Given the description of an element on the screen output the (x, y) to click on. 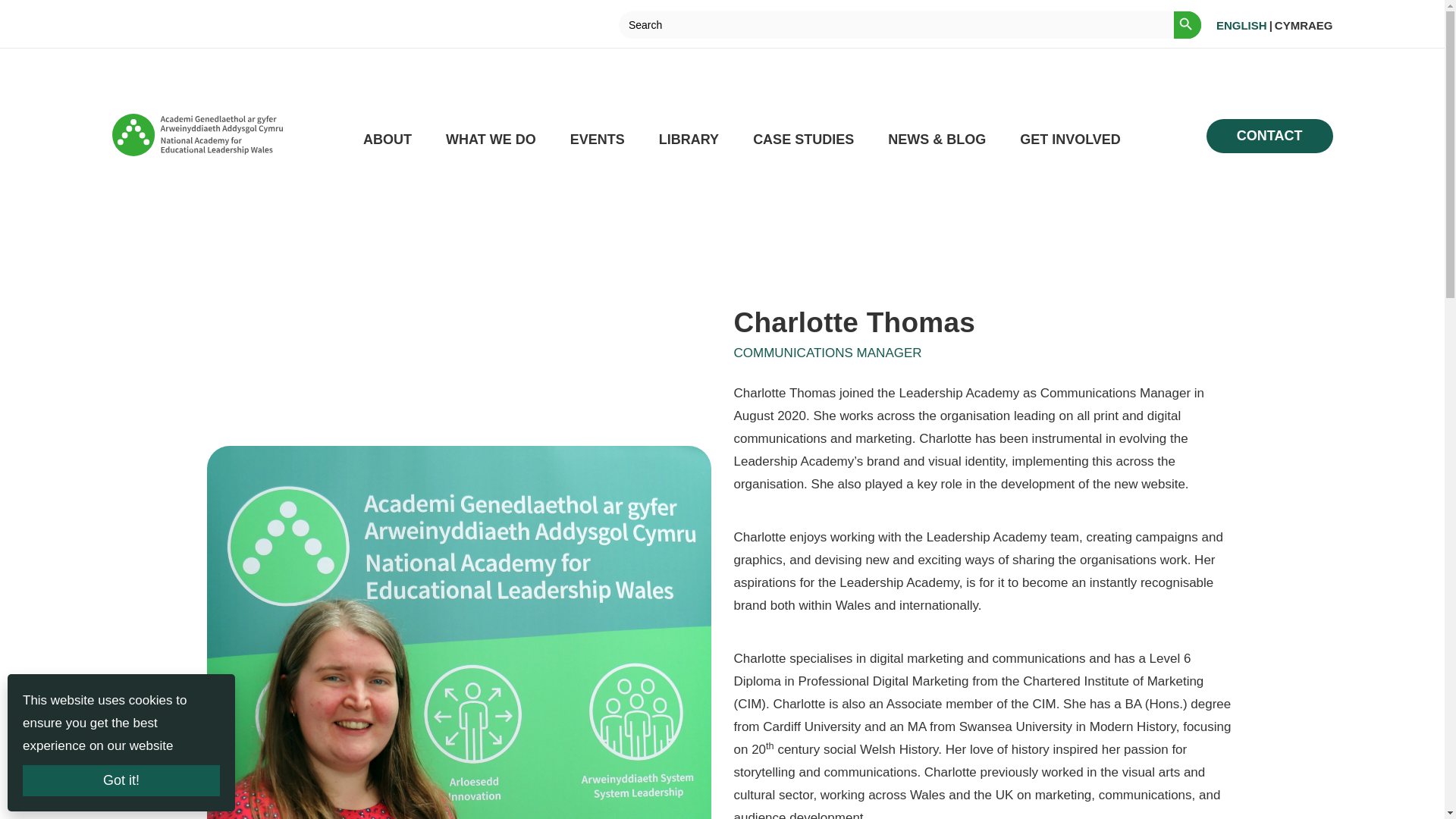
CONTACT (1270, 134)
Got it! (121, 780)
ENGLISH (1240, 25)
CYMRAEG (1304, 25)
ABOUT (387, 139)
GET INVOLVED (1070, 139)
CASE STUDIES (802, 139)
EVENTS (597, 139)
WHAT WE DO (490, 139)
Search Button (1187, 24)
LIBRARY (689, 139)
